Given the description of an element on the screen output the (x, y) to click on. 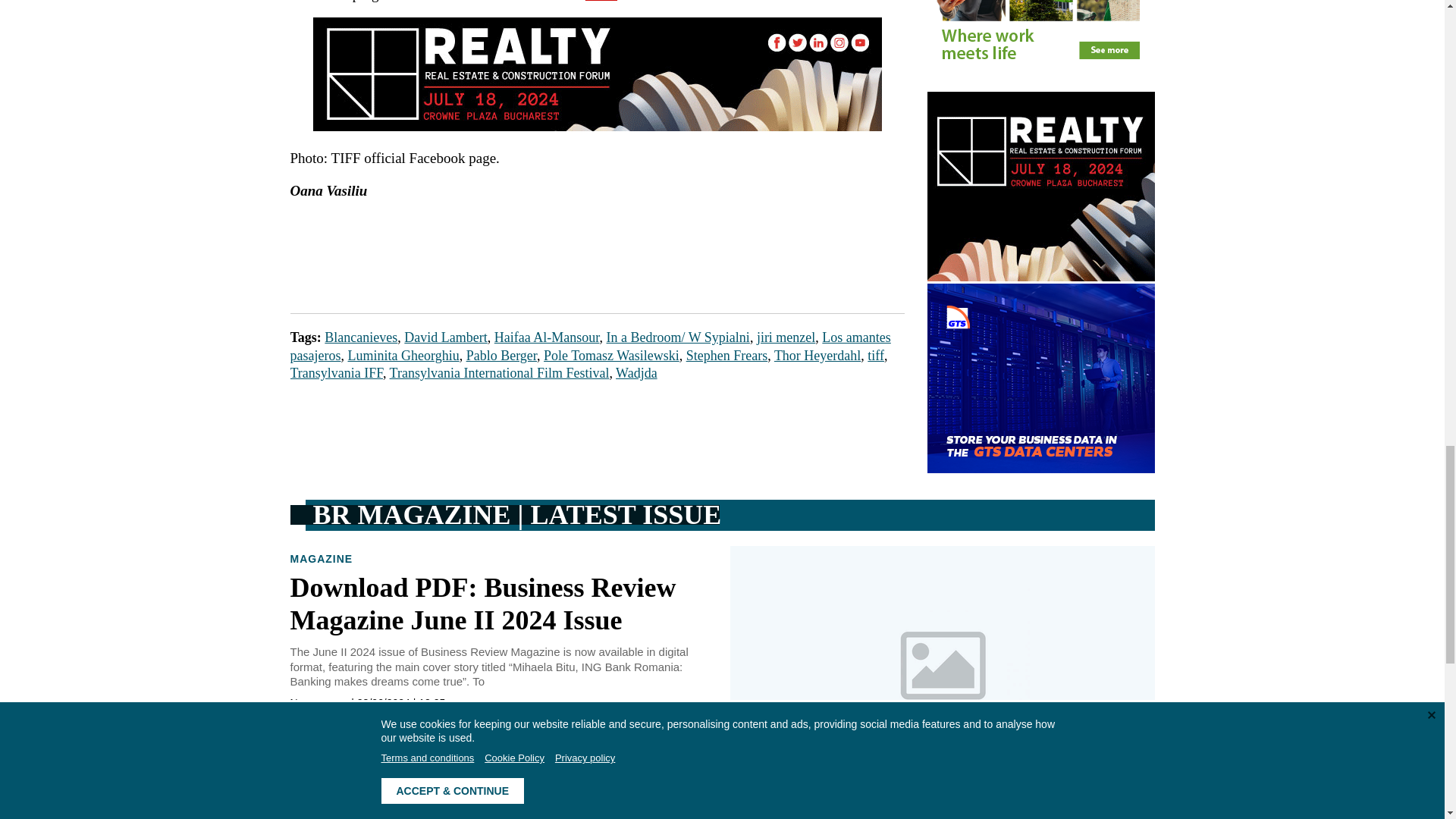
here.  (601, 1)
Blancanieves (360, 337)
Haifaa Al-Mansour (547, 337)
David Lambert (445, 337)
